Given the description of an element on the screen output the (x, y) to click on. 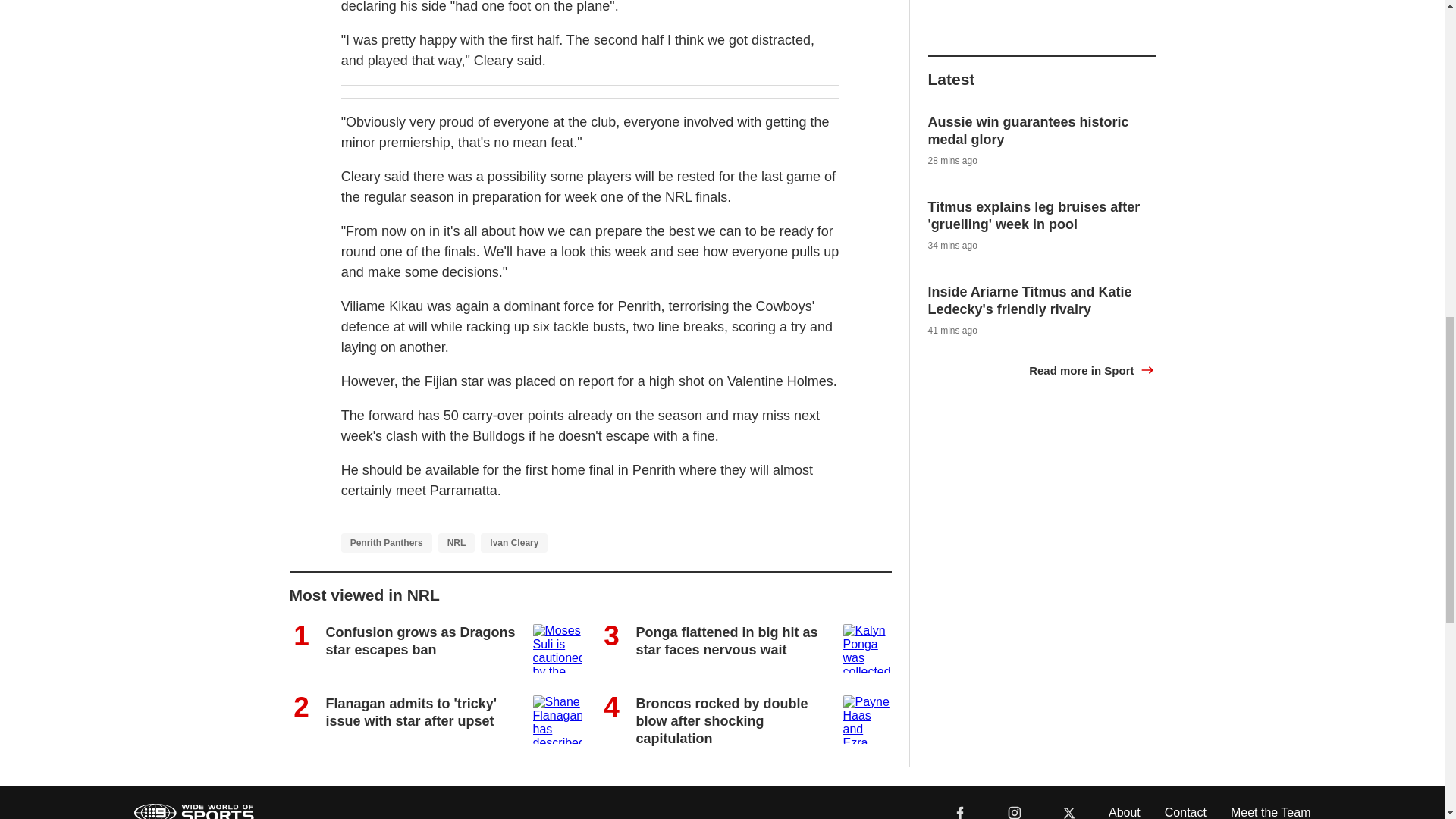
x (1069, 808)
Ponga flattened in big hit as star faces nervous wait (725, 640)
facebook (960, 812)
Flanagan admits to 'tricky' issue with star after upset (411, 712)
NRL (457, 542)
Confusion grows as Dragons star escapes ban (420, 640)
instagram (1013, 808)
facebook (959, 808)
Ivan Cleary (513, 542)
Broncos rocked by double blow after shocking capitulation (721, 721)
